Given the description of an element on the screen output the (x, y) to click on. 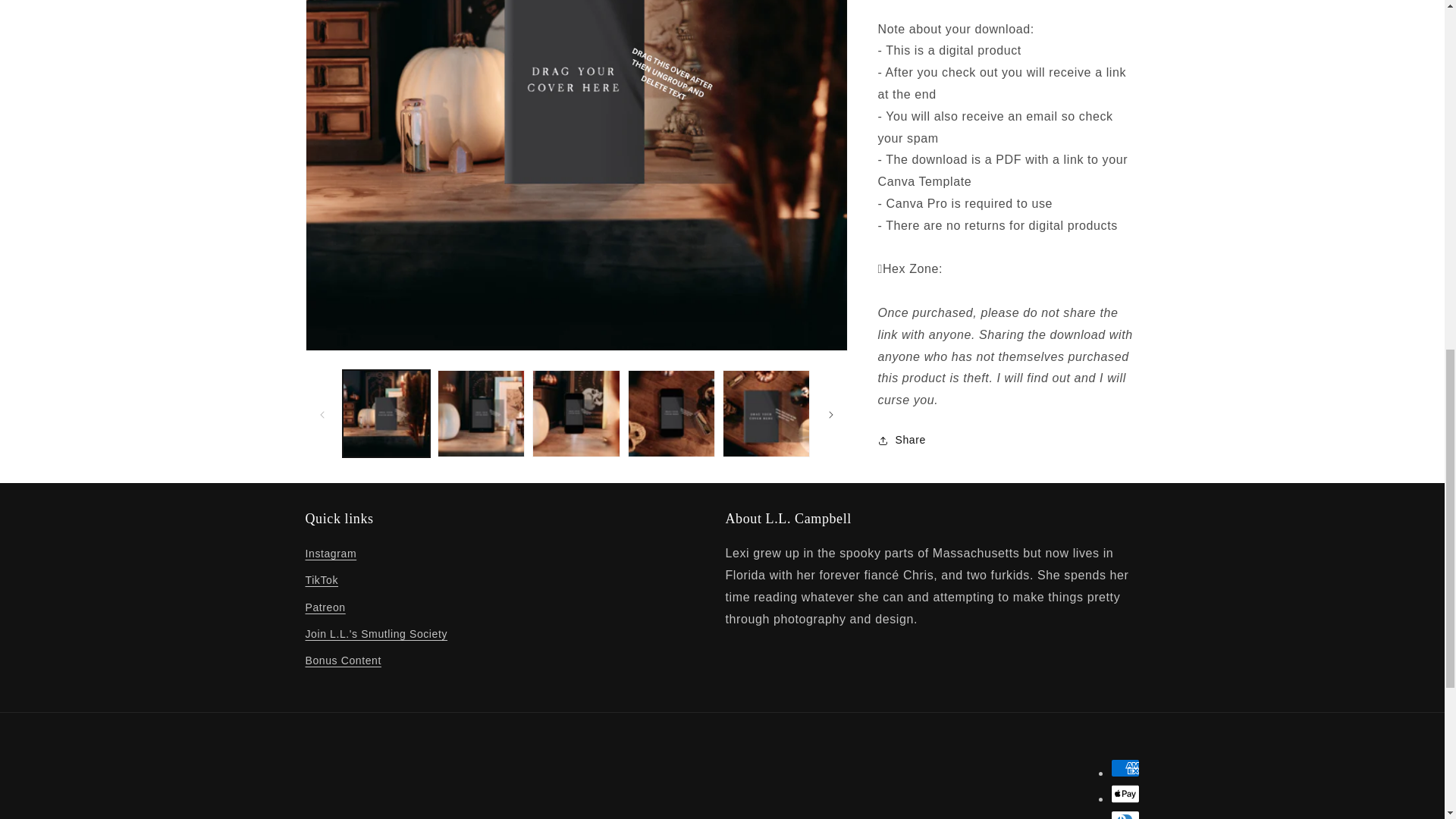
American Express (1123, 768)
Diners Club (1123, 814)
Apple Pay (1123, 793)
